Given the description of an element on the screen output the (x, y) to click on. 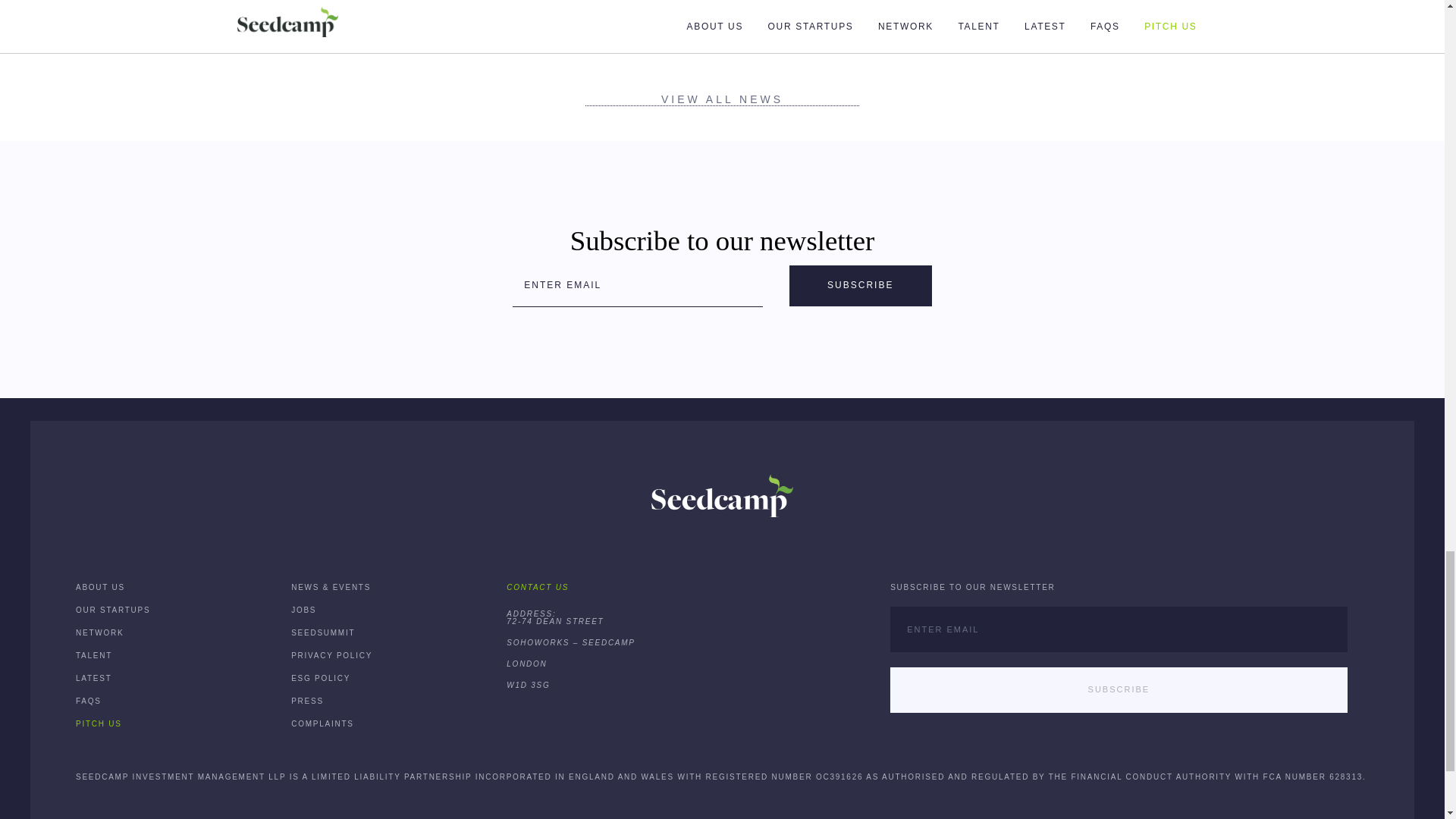
PRESS (307, 700)
SUBSCRIBE (1117, 689)
SUBSCRIBE (860, 285)
LATEST (93, 678)
SEEDSUMMIT (323, 632)
COMPLAINTS (322, 723)
ESG POLICY (320, 678)
JOBS (303, 610)
CONTACT US (537, 587)
PITCH US (98, 723)
TALENT (93, 655)
OUR STARTUPS (112, 610)
VIEW ALL NEWS (722, 98)
ABOUT US (100, 587)
FAQS (88, 700)
